Given the description of an element on the screen output the (x, y) to click on. 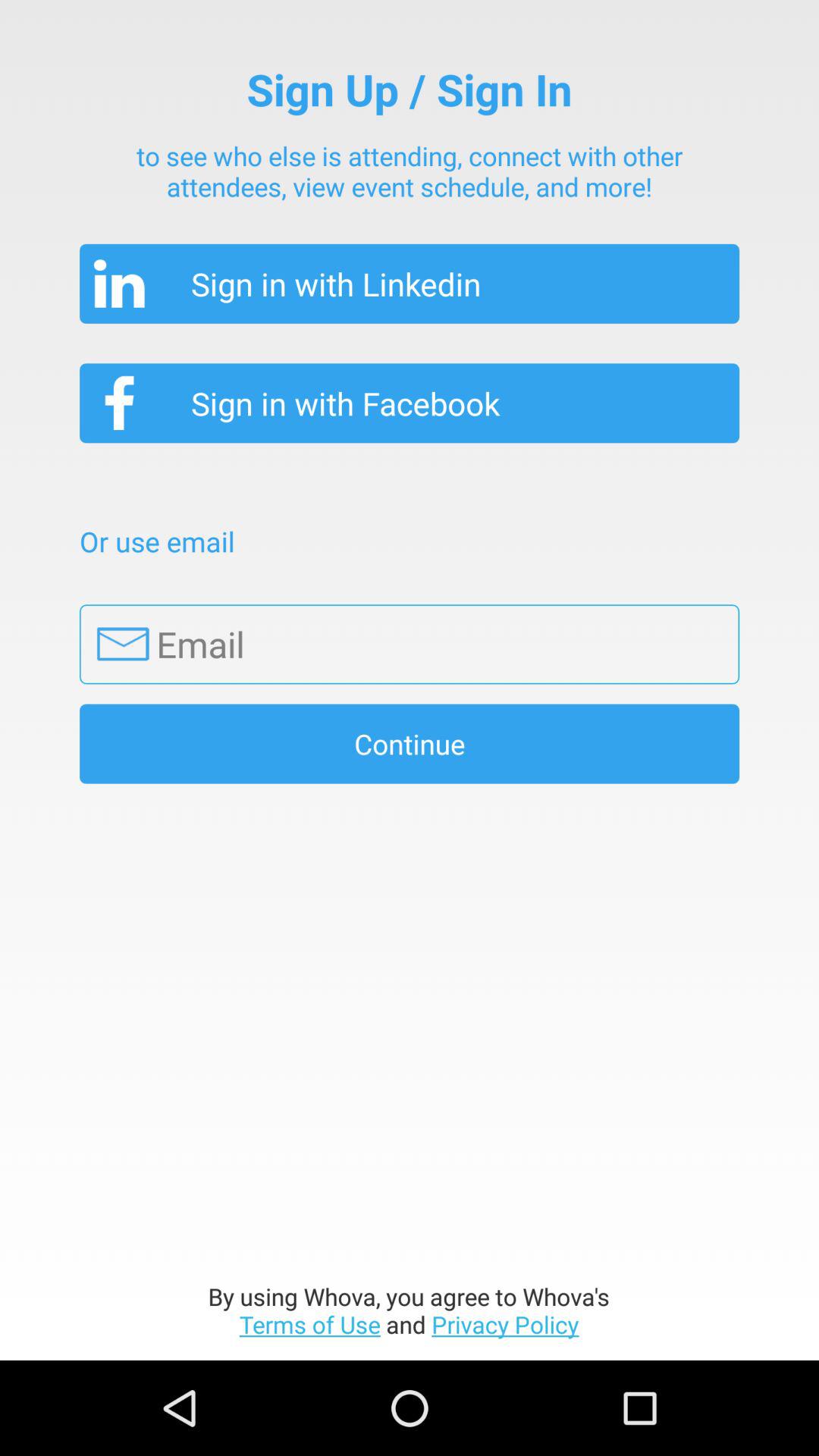
click app at the bottom (408, 1310)
